Given the description of an element on the screen output the (x, y) to click on. 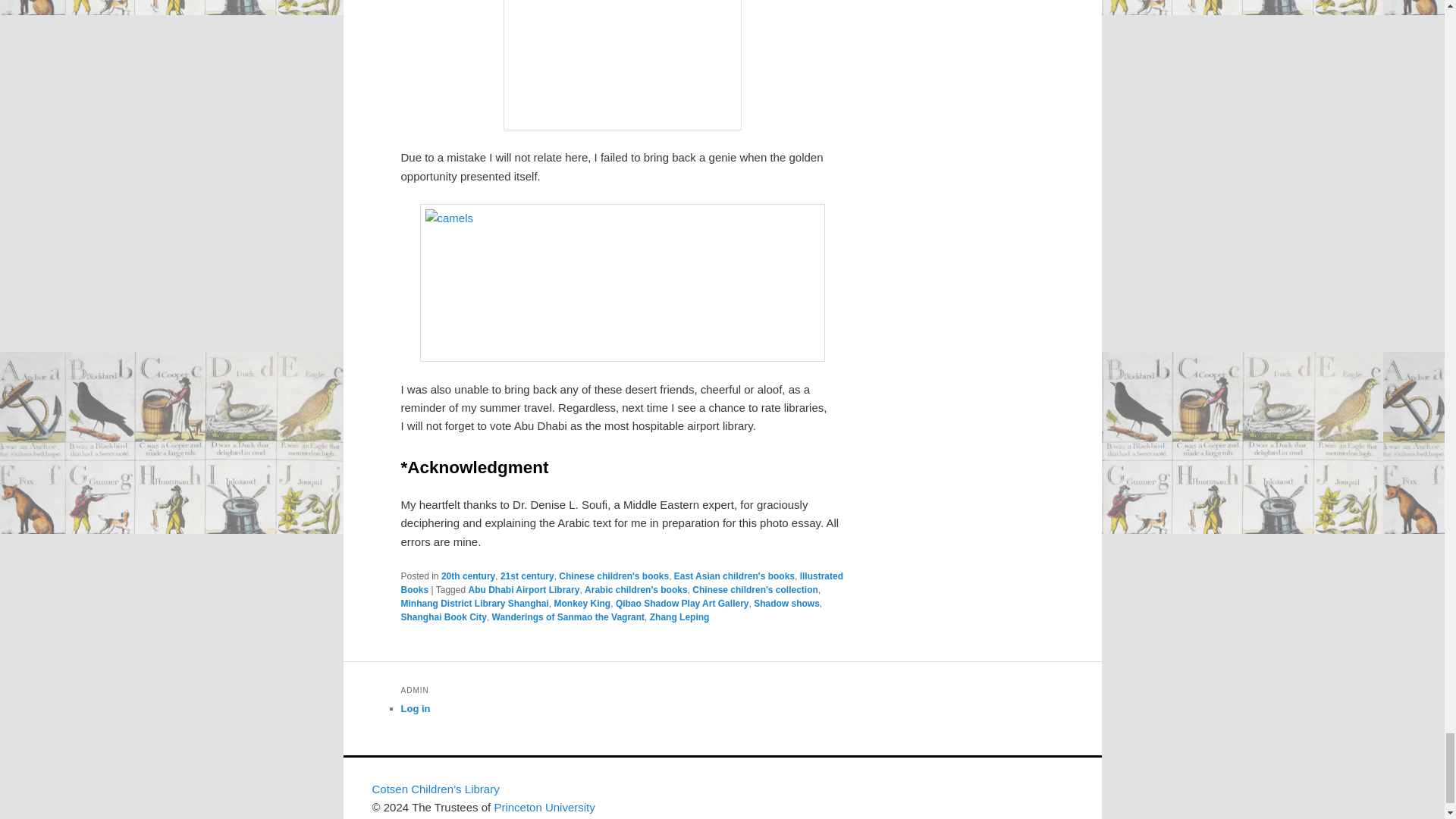
21st century (527, 575)
Chinese children's books (613, 575)
East Asian children's books (734, 575)
20th century (468, 575)
